Given the description of an element on the screen output the (x, y) to click on. 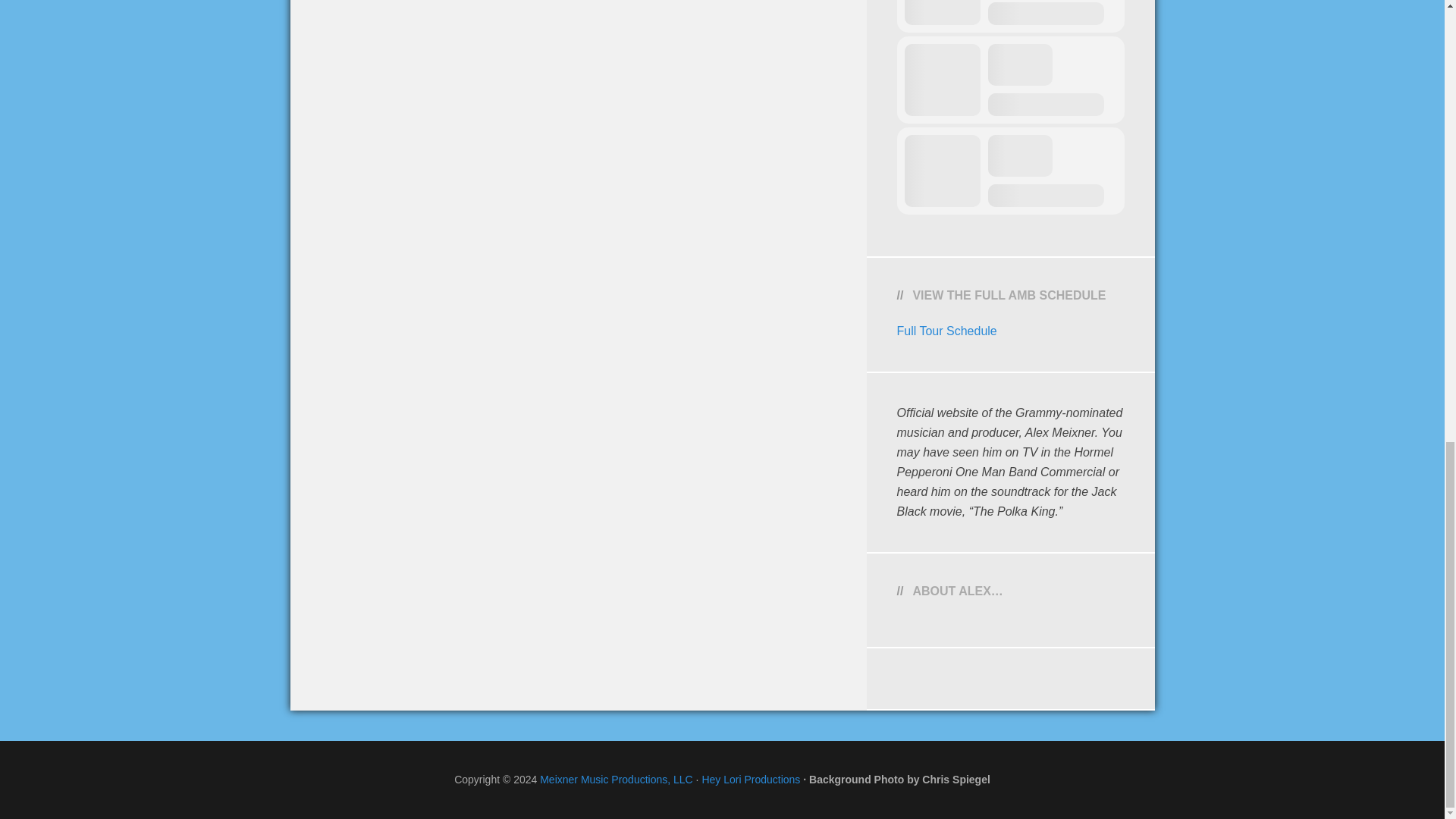
Full Tour Schedule (945, 330)
Hey Lori Productions (750, 779)
Meixner Music Productions, LLC (616, 779)
